Given the description of an element on the screen output the (x, y) to click on. 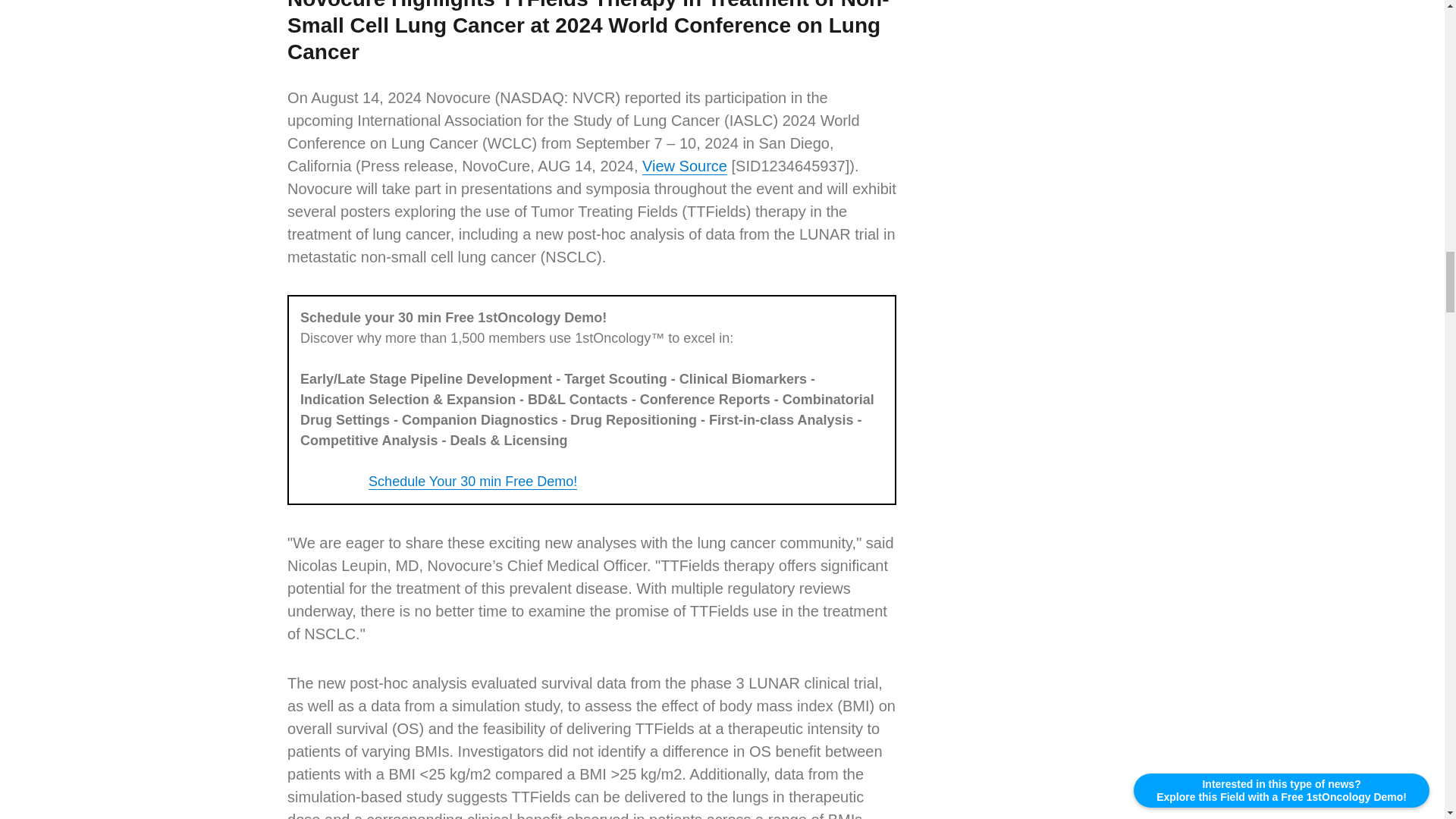
View Source (684, 166)
Schedule Your 30 min Free Demo! (472, 481)
